Given the description of an element on the screen output the (x, y) to click on. 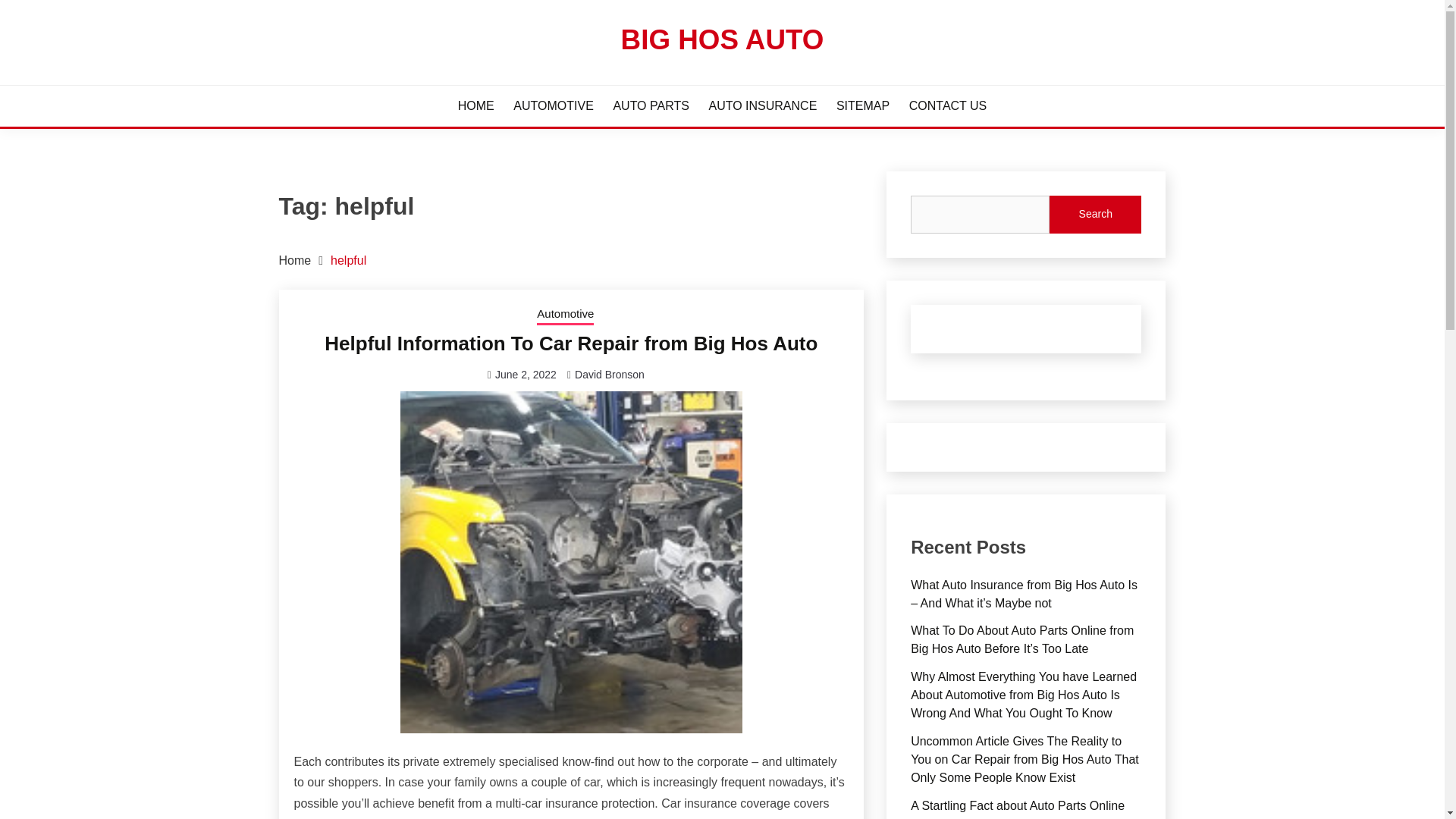
AUTOMOTIVE (553, 106)
June 2, 2022 (525, 374)
Home (295, 259)
HOME (476, 106)
SITEMAP (862, 106)
AUTO PARTS (650, 106)
David Bronson (610, 374)
helpful (348, 259)
CONTACT US (947, 106)
AUTO INSURANCE (761, 106)
Search (1095, 214)
BIG HOS AUTO (722, 39)
